Given the description of an element on the screen output the (x, y) to click on. 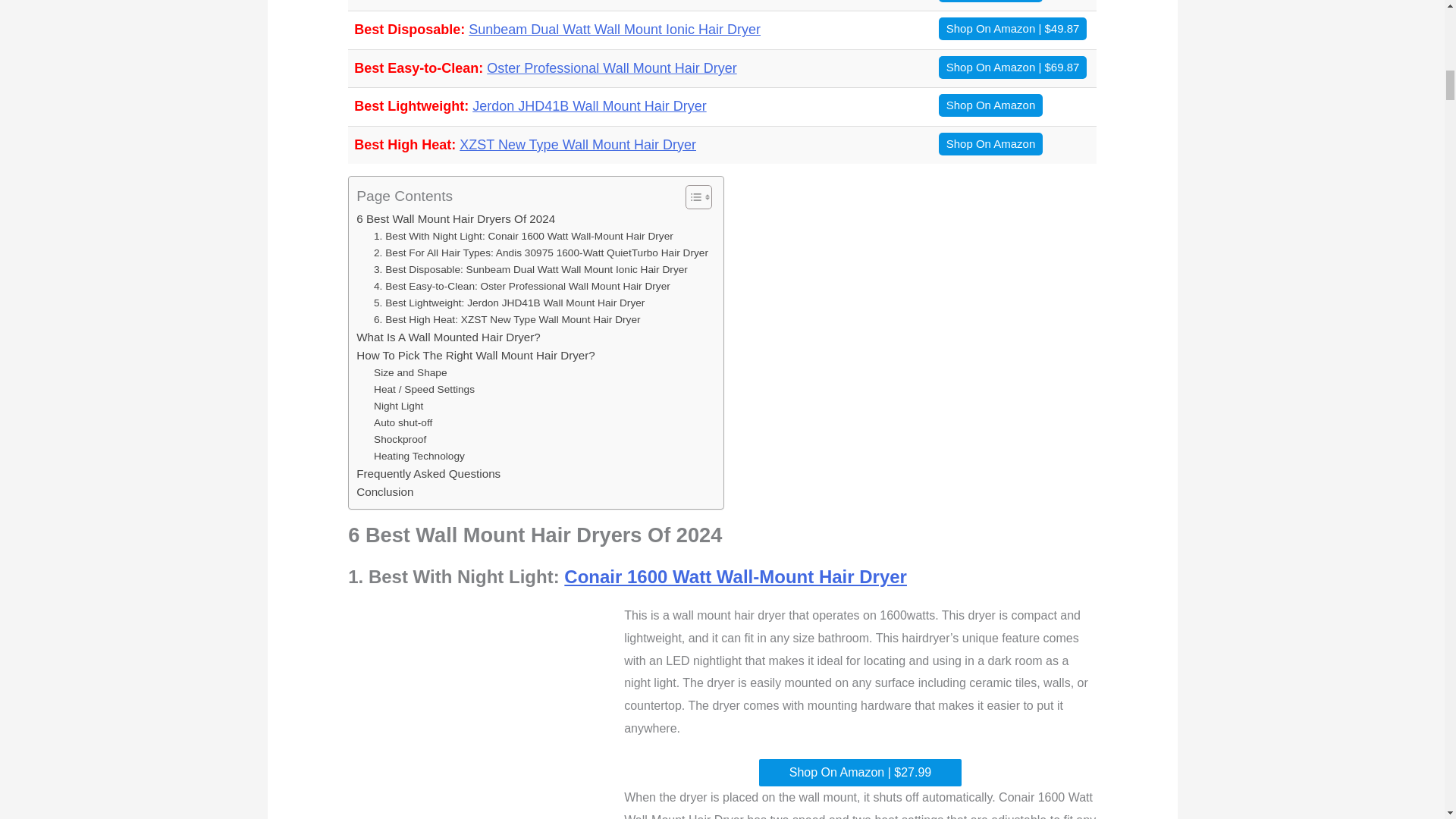
6. Best High Heat: XZST New Type Wall Mount Hair Dryer (507, 320)
6 Best Wall Mount Hair Dryers Of 2024 (455, 218)
5. Best Lightweight: Jerdon JHD41B Wall Mount Hair Dryer (509, 303)
Oster Professional Wall Mount Hair Dryer (611, 68)
Jerdon JHD41B Wall Mount Hair Dryer (588, 105)
Sunbeam Dual Watt Wall Mount Ionic Hair Dryer (614, 29)
Shop On Amazon (991, 1)
